Given the description of an element on the screen output the (x, y) to click on. 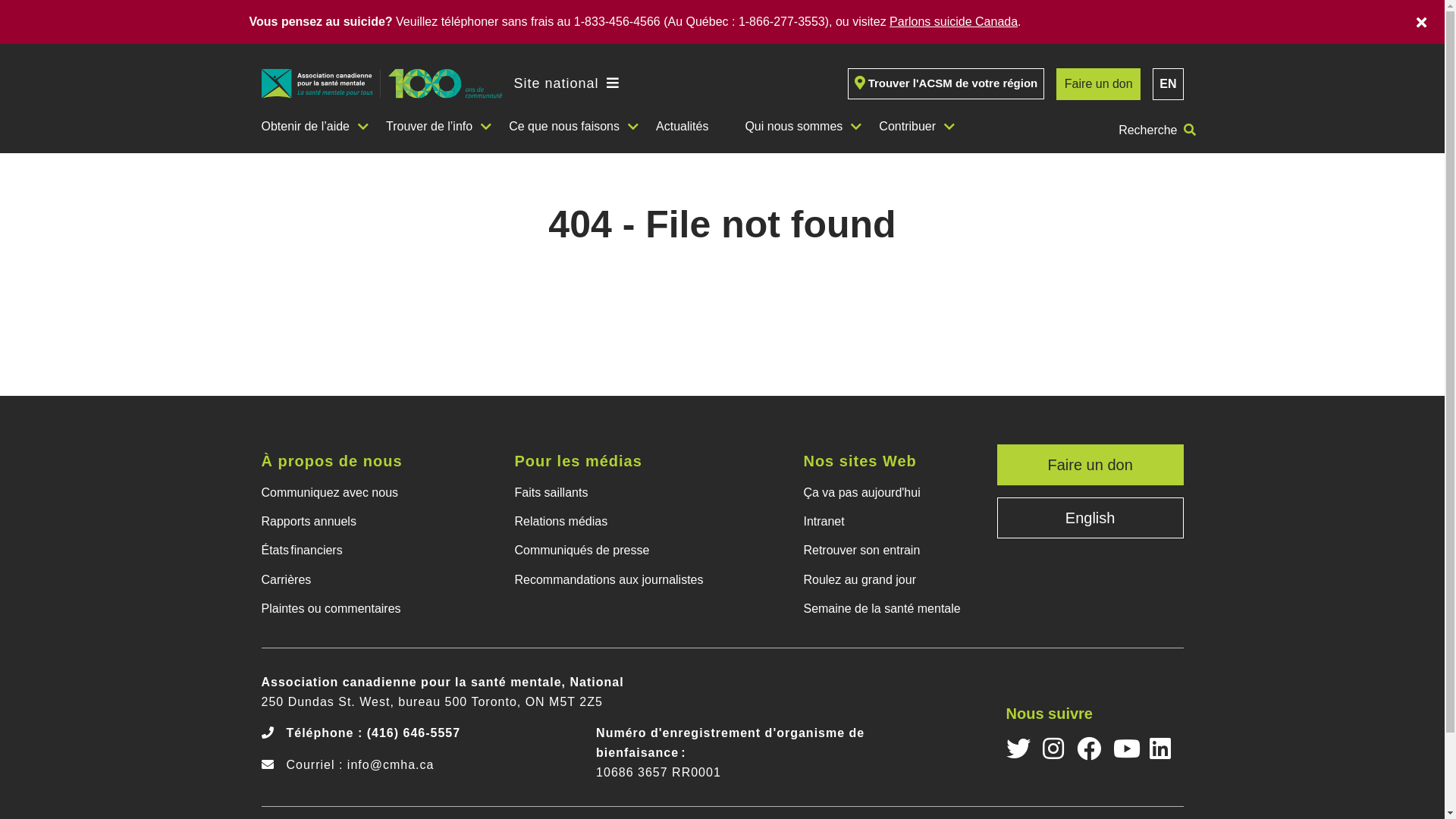
Faire un don Element type: text (1090, 464)
Communiquez avec nous Element type: text (343, 491)
Retrouver son entrain Element type: text (887, 550)
(416) 646-5557 Element type: text (413, 732)
Rapports annuels Element type: text (343, 521)
info@cmha.ca Element type: text (390, 764)
Roulez au grand jour Element type: text (887, 578)
EN Element type: text (1167, 84)
Faits saillants Element type: text (614, 491)
Recommandations aux journalistes Element type: text (614, 578)
Recherche Element type: text (1156, 130)
Parlons suicide Canada Element type: text (953, 21)
Nos sites Web Element type: text (887, 460)
Ce que nous faisons Element type: text (569, 126)
Faire un don Element type: text (1098, 84)
Plaintes ou commentaires Element type: text (343, 608)
Qui nous sommes Element type: text (799, 126)
Intranet Element type: text (887, 521)
Contribuer Element type: text (913, 126)
English Element type: text (1090, 517)
